Given the description of an element on the screen output the (x, y) to click on. 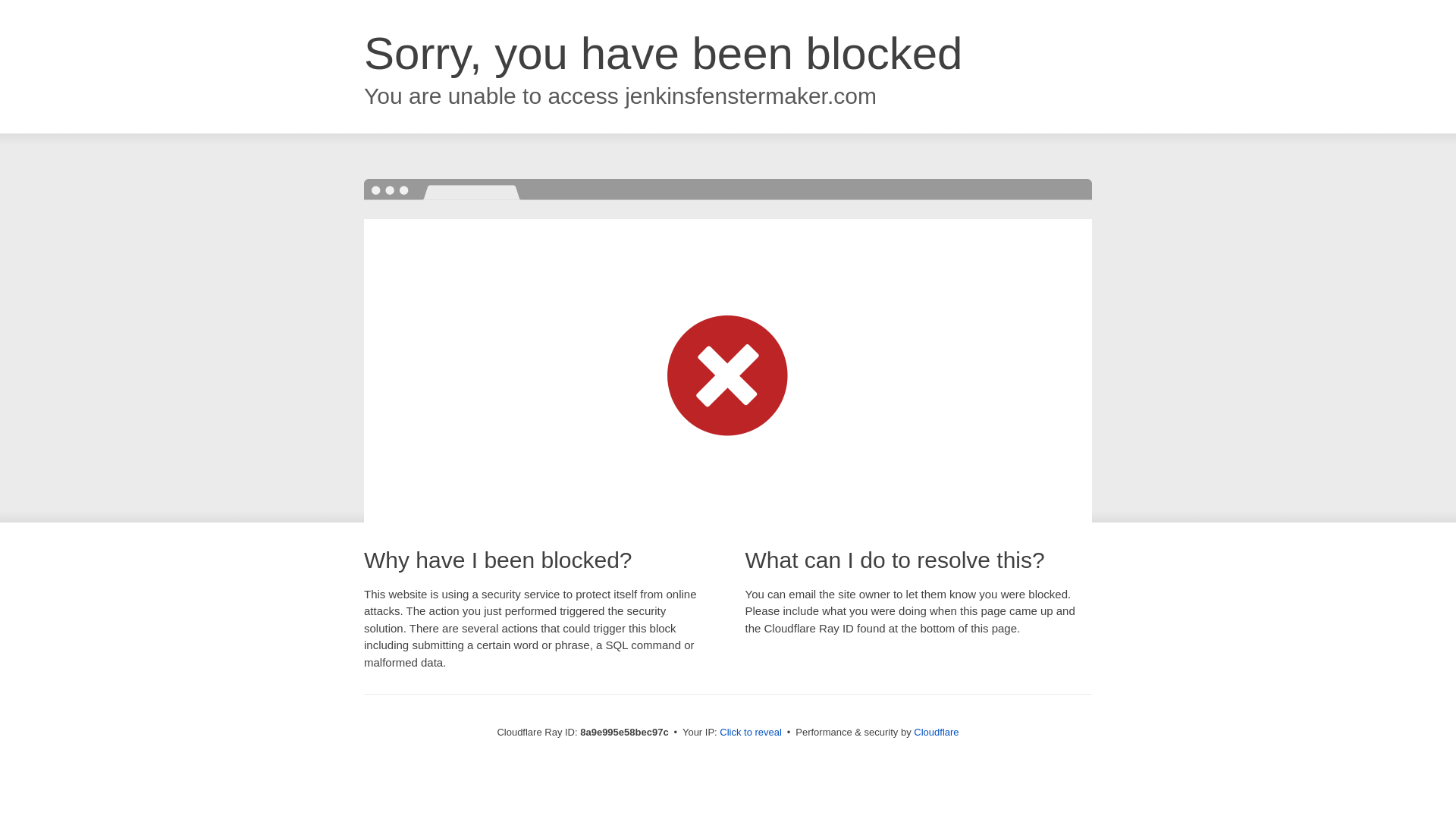
Click to reveal (750, 732)
Cloudflare (936, 731)
